Given the description of an element on the screen output the (x, y) to click on. 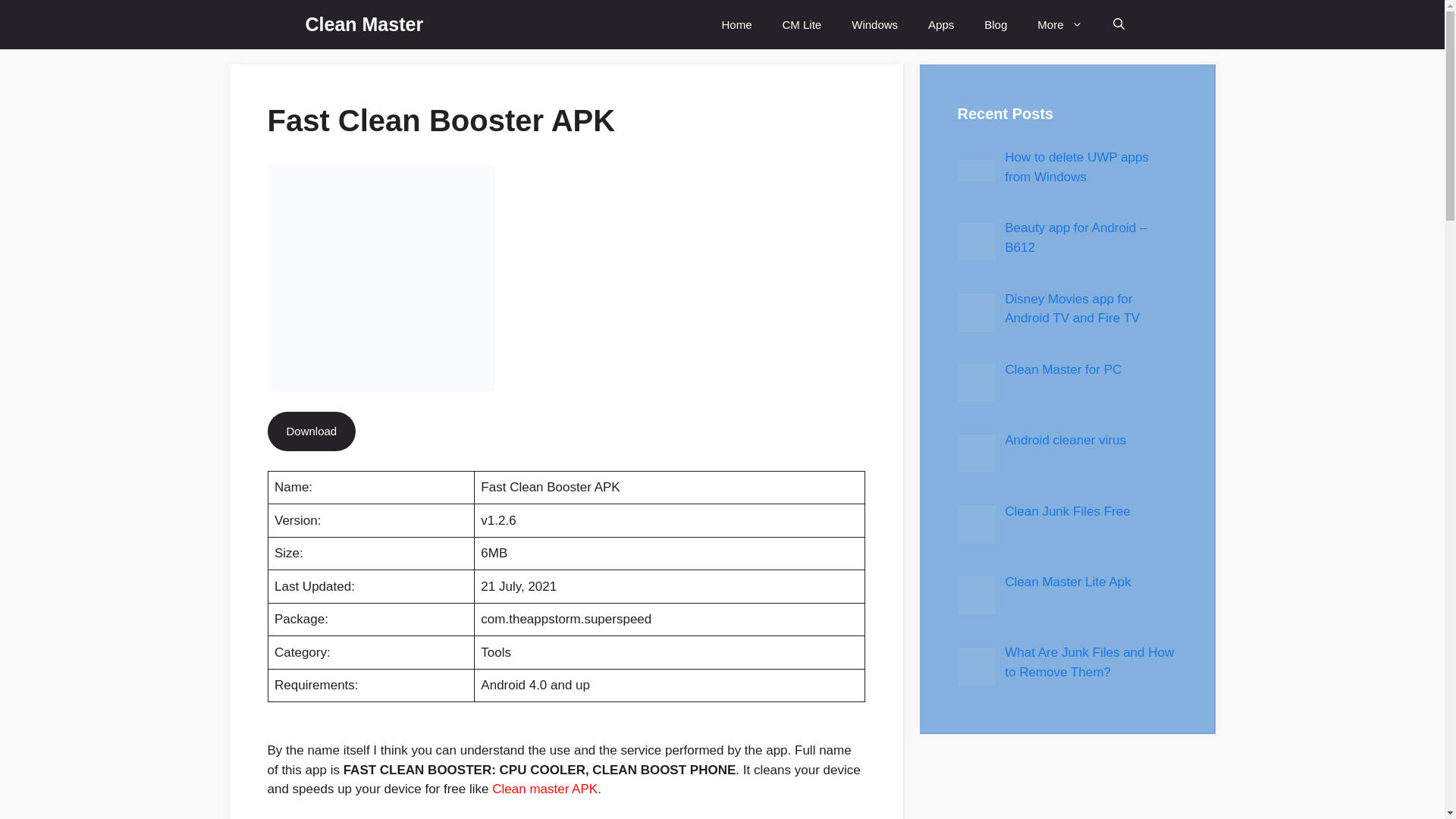
Blog (995, 24)
Clean Master (363, 24)
Windows (873, 24)
Apps (940, 24)
Clean master APK (544, 789)
Download (310, 431)
How to delete UWP apps from Windows (1076, 166)
Disney Movies app for Android TV and Fire TV (1072, 308)
What Are Junk Files and How to Remove Them? (1088, 662)
Home (736, 24)
